Given the description of an element on the screen output the (x, y) to click on. 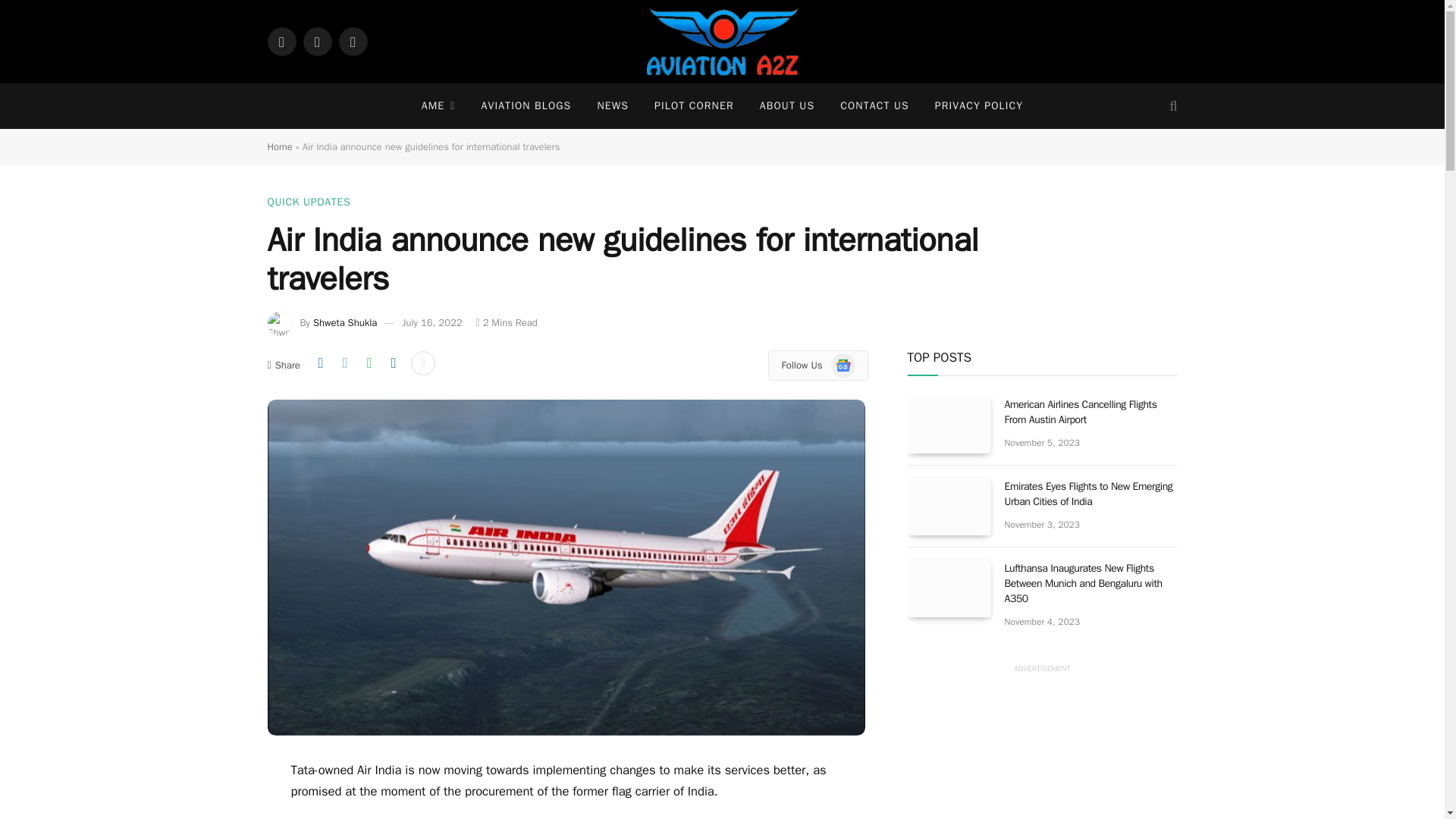
Posts by Shweta Shukla (345, 322)
Aviation A2Z (722, 41)
Share on LinkedIn (392, 363)
Share on Facebook (319, 363)
Show More Social Sharing (422, 363)
NEWS (612, 105)
QUICK UPDATES (308, 201)
AME (438, 105)
Shweta Shukla (345, 322)
Home (279, 146)
Share on WhatsApp (369, 363)
Instagram (351, 41)
ABOUT US (786, 105)
AVIATION BLOGS (525, 105)
